Given the description of an element on the screen output the (x, y) to click on. 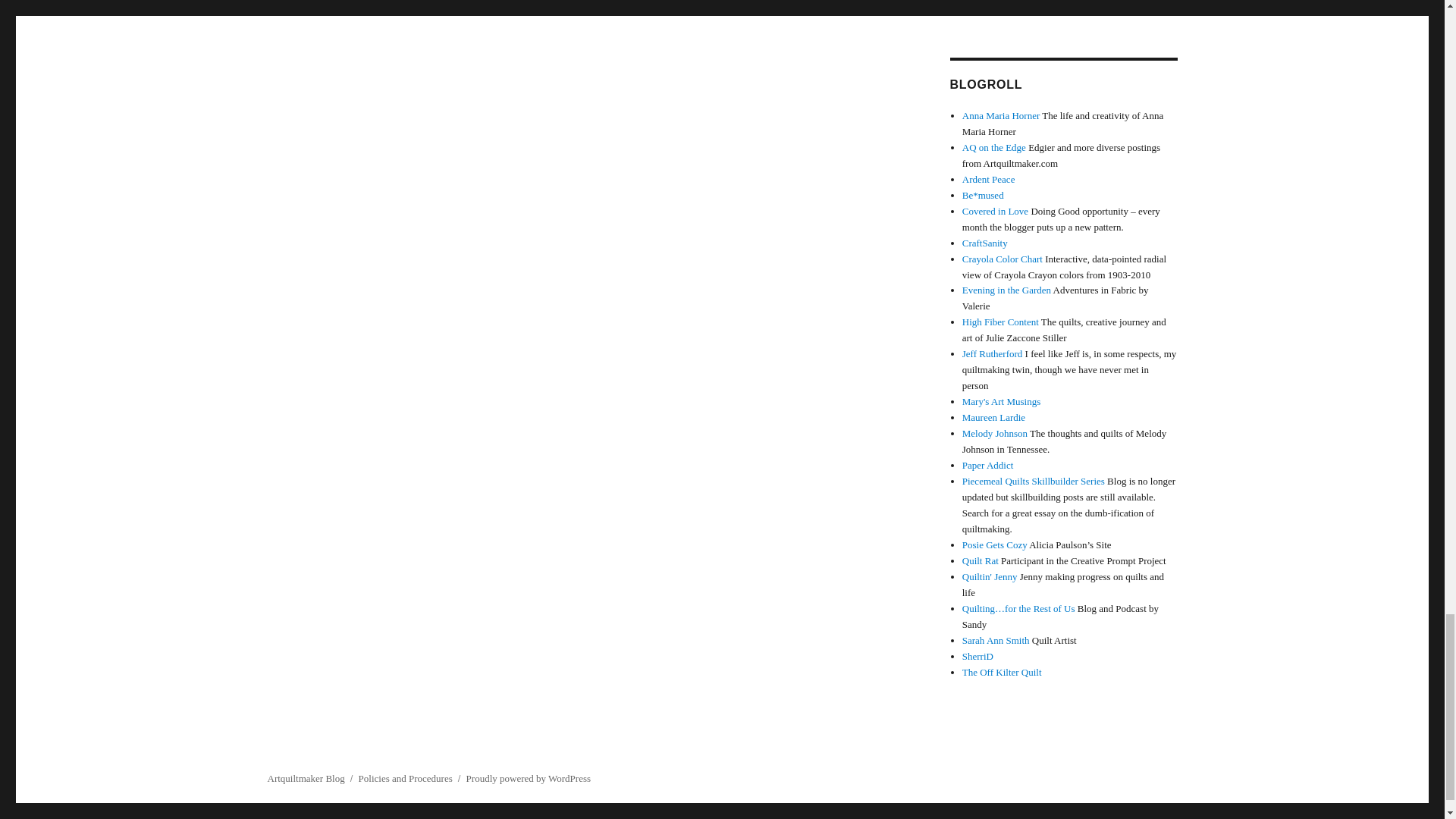
Adventures in Fabric by Valerie (1006, 289)
Edgier and more diverse postings from Artquiltmaker.com (994, 147)
The life and creativity of Anna Maria Horner (1001, 115)
